Given the description of an element on the screen output the (x, y) to click on. 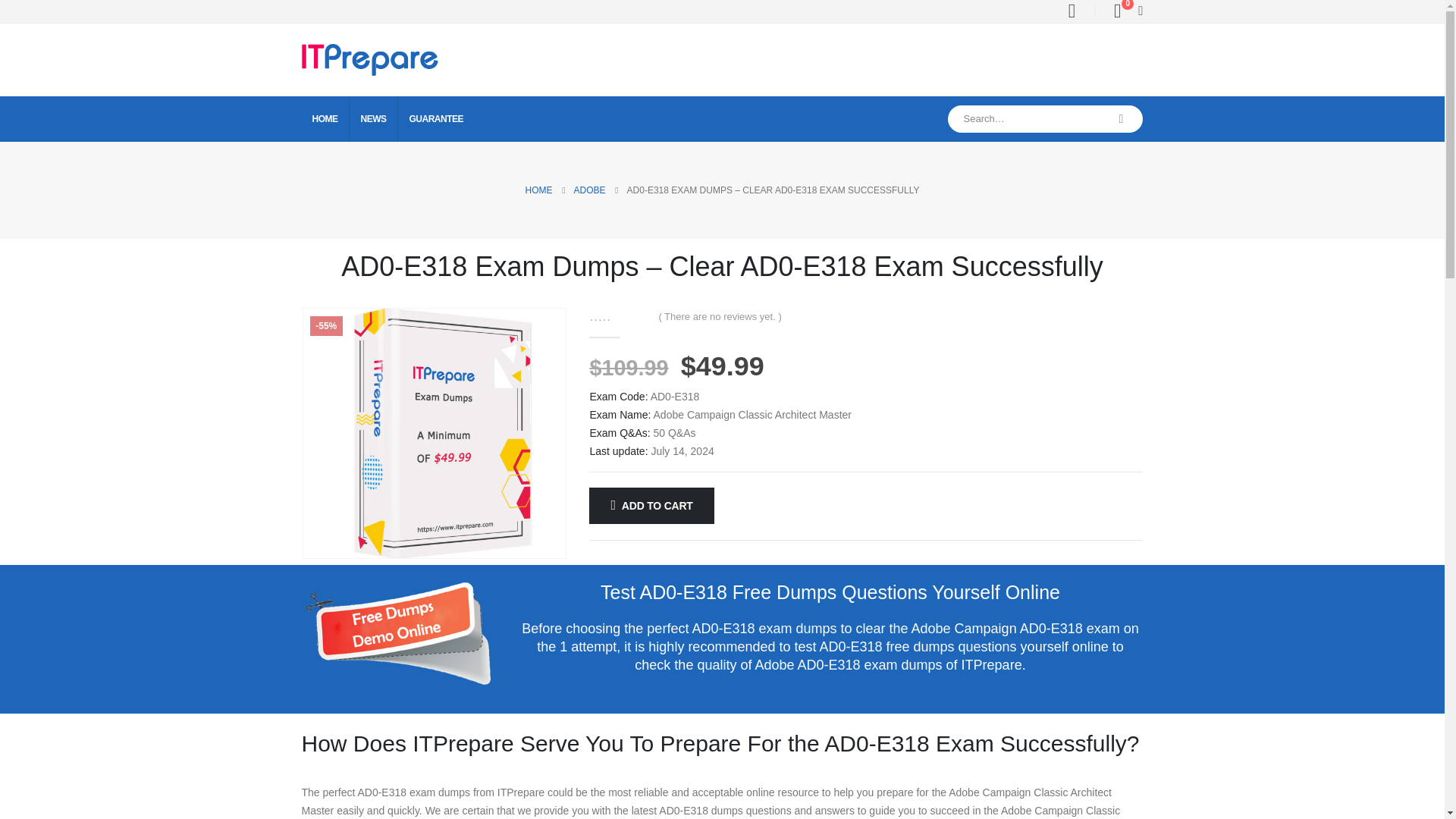
1 (398, 633)
My Account (1071, 11)
GUARANTEE (436, 118)
Search (1121, 118)
HOME (325, 118)
HOME (539, 189)
ADOBE (589, 189)
Go to Home Page (539, 189)
ADD TO CART (651, 505)
NEWS (373, 118)
